Given the description of an element on the screen output the (x, y) to click on. 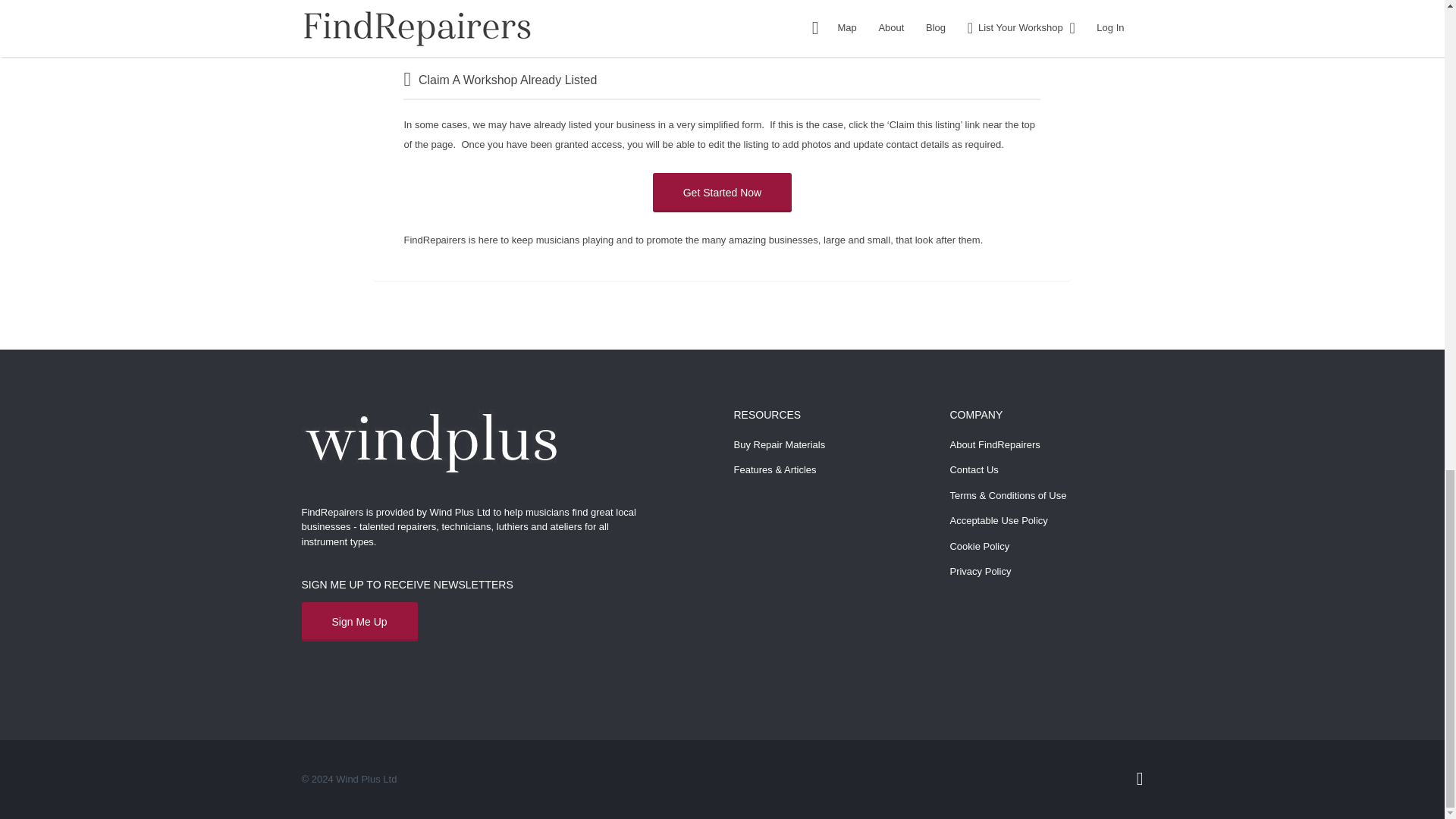
Contact Us (973, 469)
Acceptable Use Policy (997, 520)
Privacy Policy (979, 571)
Sign Me Up (359, 621)
Cookie Policy (979, 546)
Buy Repair Materials (779, 444)
Get Started Now (722, 192)
About FindRepairers (994, 444)
